Given the description of an element on the screen output the (x, y) to click on. 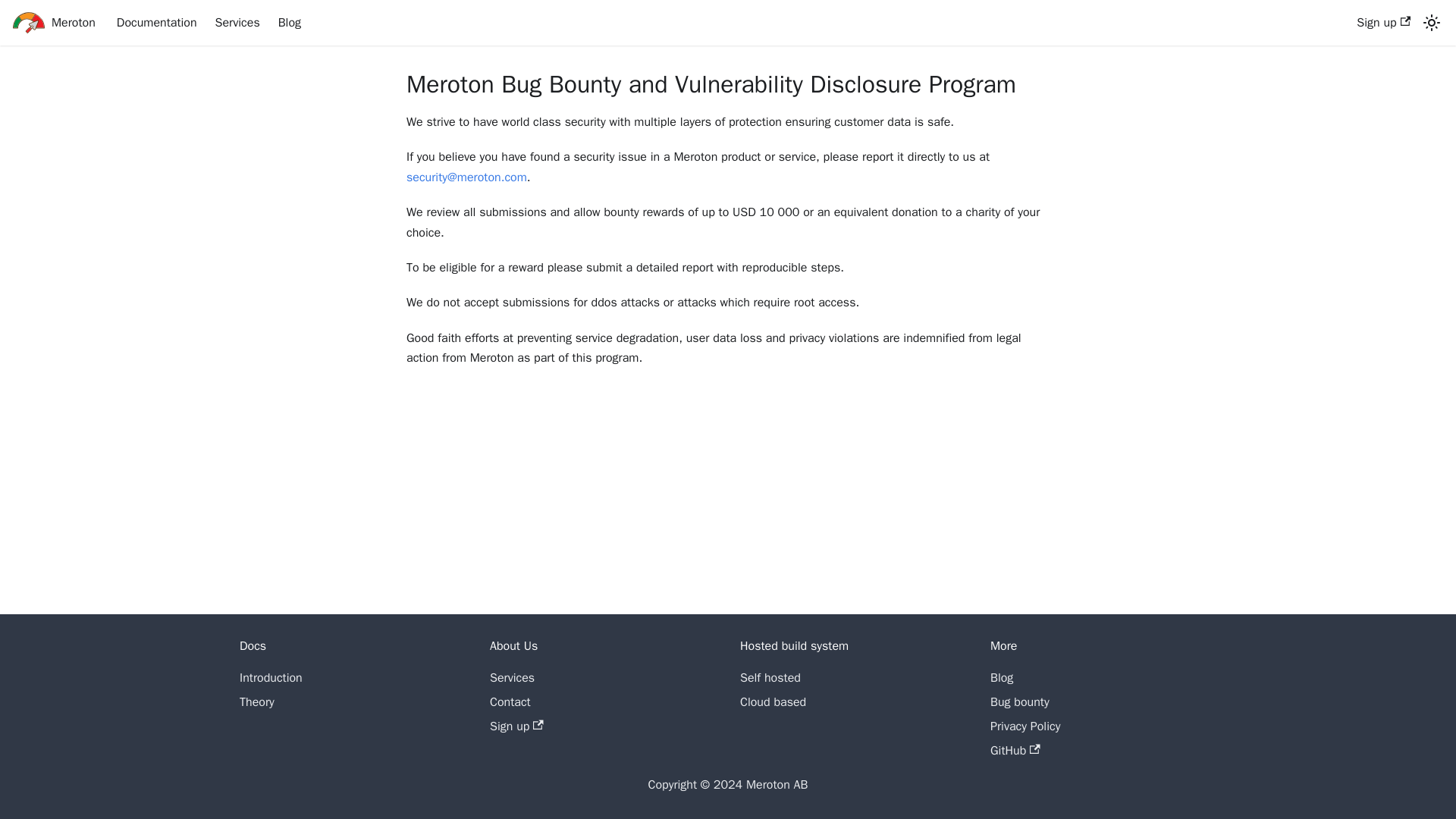
Documentation (156, 22)
Services (237, 22)
Services (511, 677)
GitHub (1015, 750)
Sign up (1383, 22)
Contact (510, 702)
Self hosted (769, 677)
Blog (1001, 677)
Cloud based (772, 702)
Theory (257, 702)
Meroton (53, 22)
Blog (289, 22)
Sign up (516, 726)
Privacy Policy (1024, 726)
Bug bounty (1019, 702)
